Given the description of an element on the screen output the (x, y) to click on. 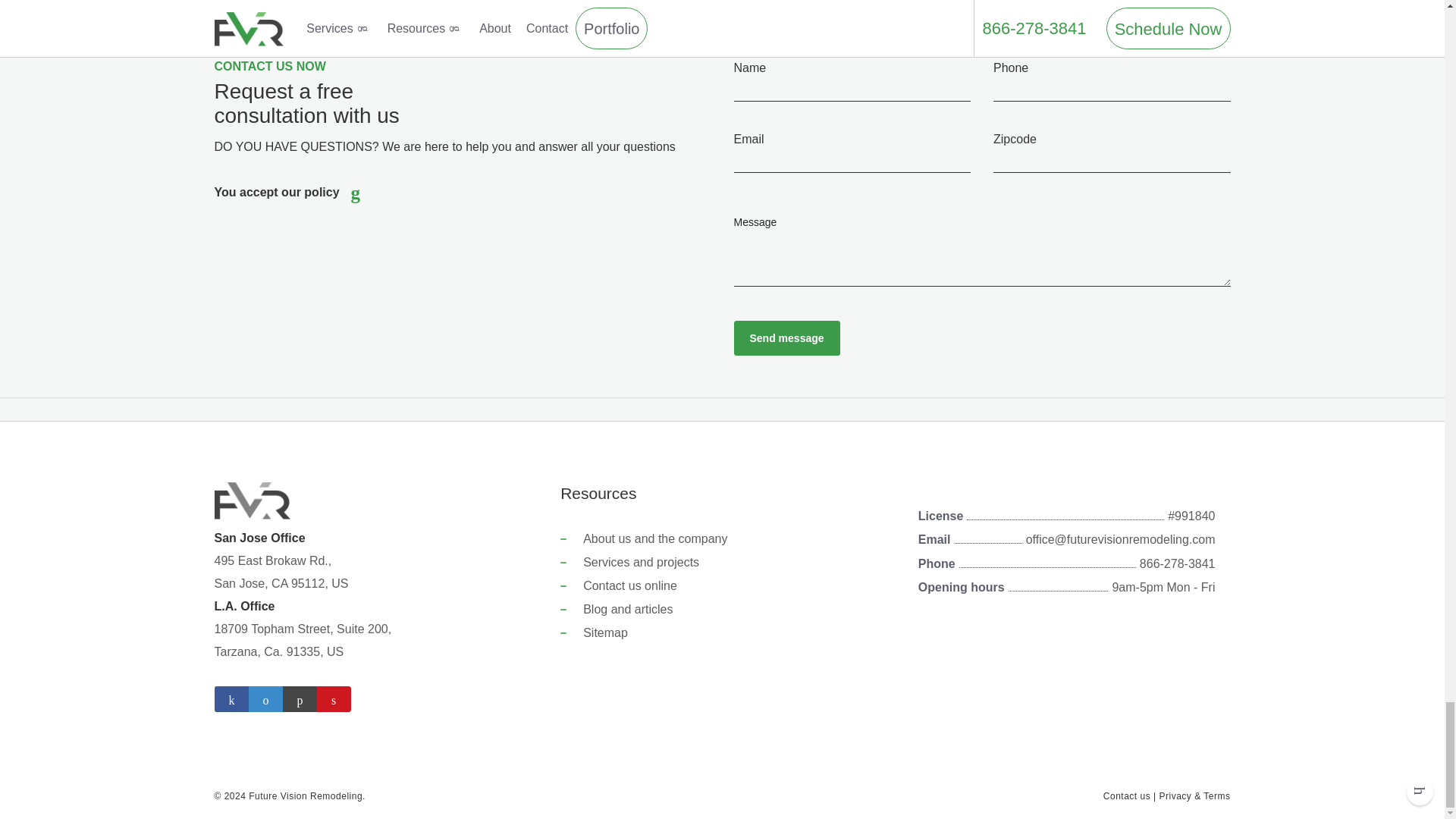
NEXT PROJECT (487, 9)
Send message (786, 338)
PREVIOUS PROJECT (283, 9)
You accept our policy (276, 191)
